Given the description of an element on the screen output the (x, y) to click on. 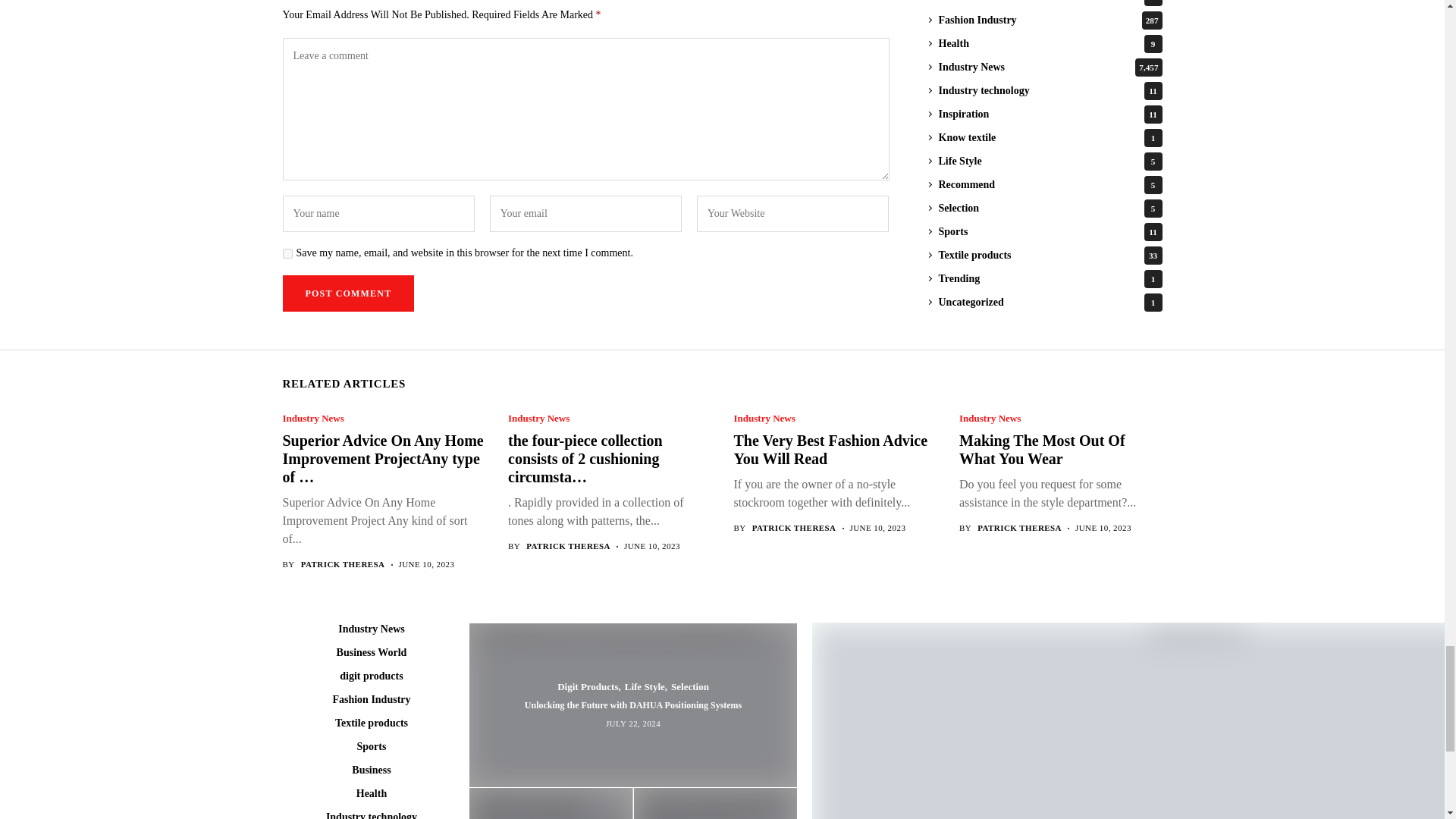
Posts by Patrick Theresa (343, 564)
Posts by Patrick Theresa (567, 546)
Post Comment (347, 293)
Posts by Patrick Theresa (1018, 528)
Posts by Patrick Theresa (793, 528)
yes (287, 253)
